Given the description of an element on the screen output the (x, y) to click on. 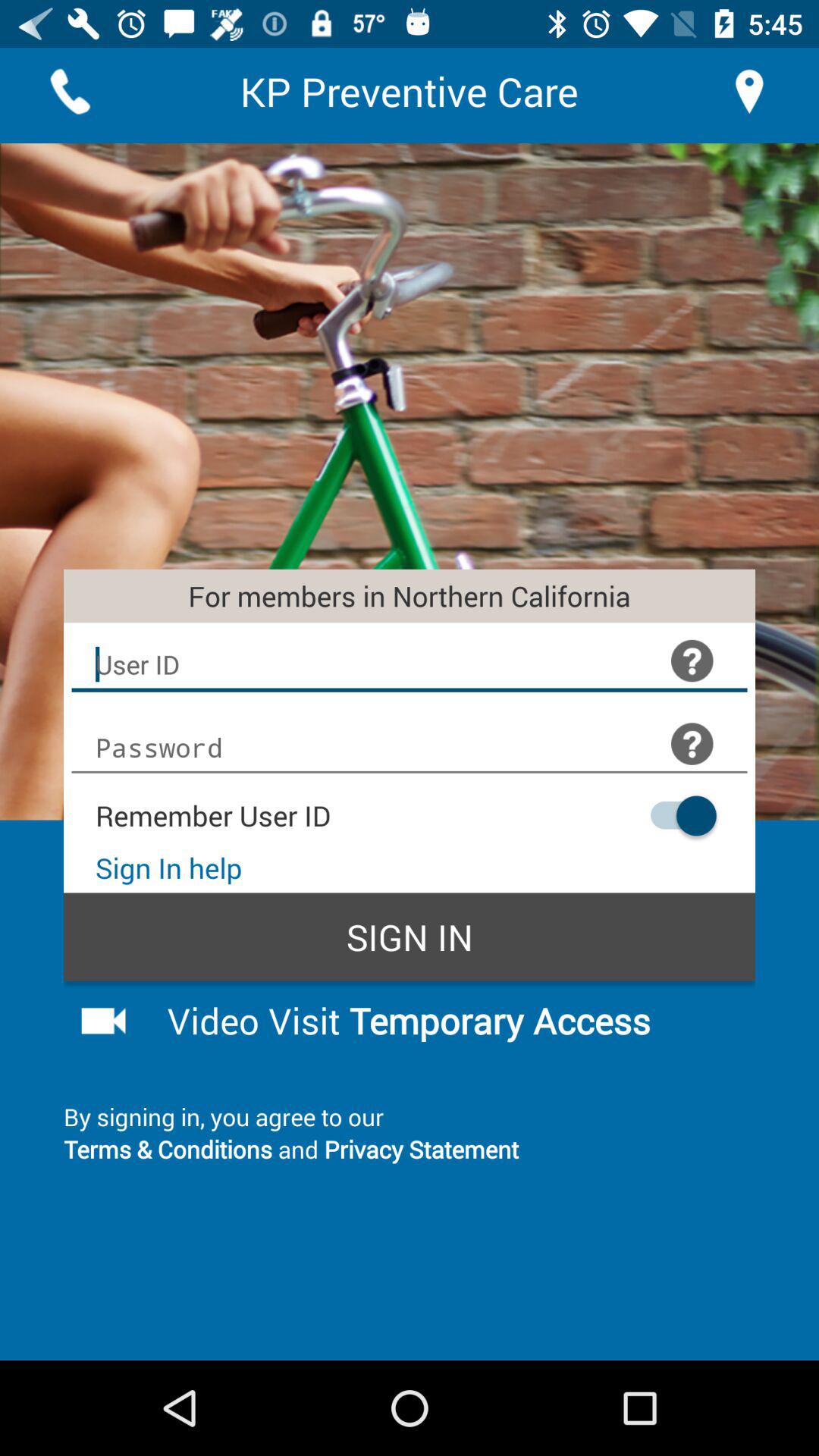
turn off icon to the right of remember user id item (676, 815)
